Given the description of an element on the screen output the (x, y) to click on. 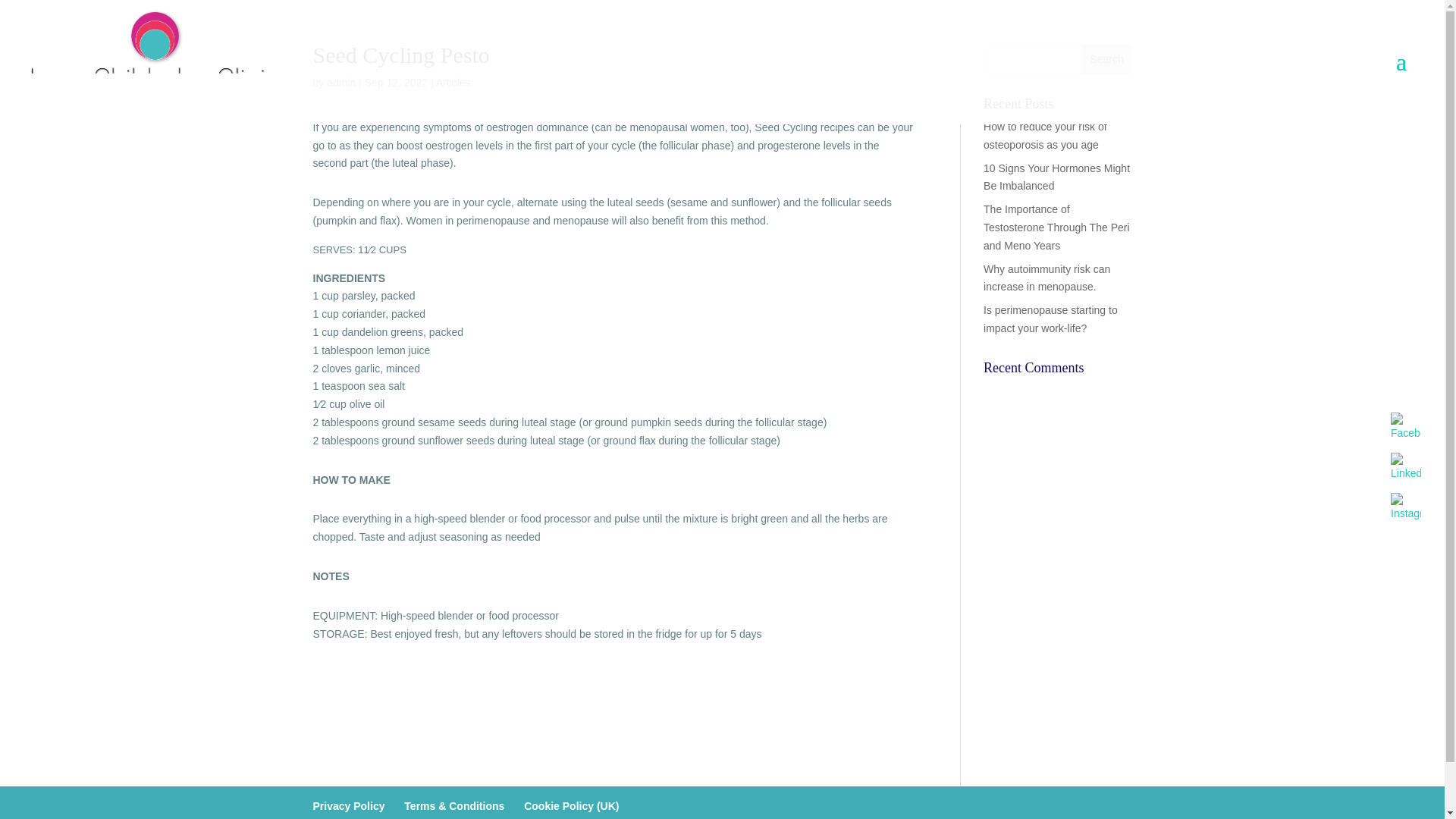
Articles (452, 82)
Instagram (1405, 508)
Search (1106, 59)
Is perimenopause starting to impact your work-life? (1051, 318)
Why autoimmunity risk can increase in menopause. (1046, 277)
How to reduce your risk of osteoporosis as you age (1045, 135)
Posts by admin (340, 82)
10 Signs Your Hormones Might Be Imbalanced (1056, 177)
LinkedIn (1405, 467)
